Given the description of an element on the screen output the (x, y) to click on. 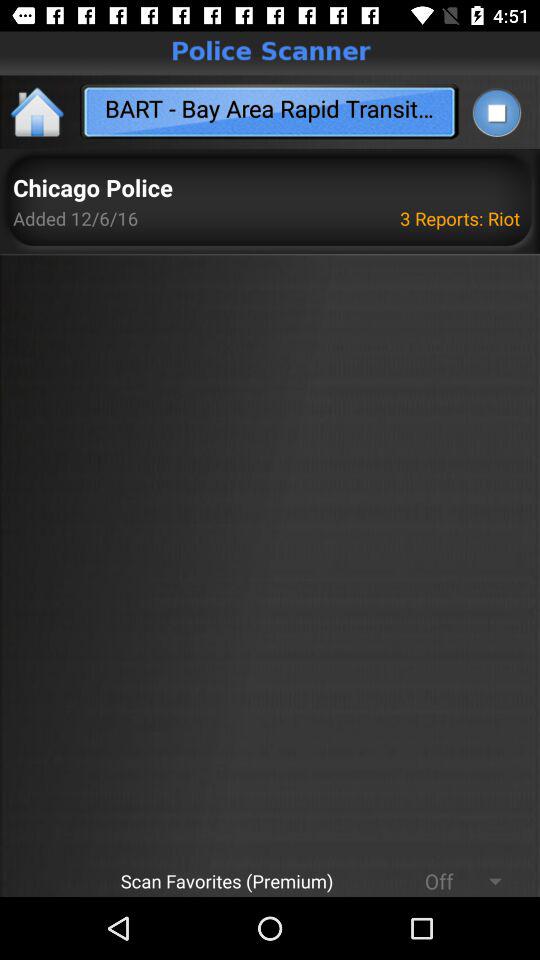
launch the icon above added 12 6 app (92, 188)
